Given the description of an element on the screen output the (x, y) to click on. 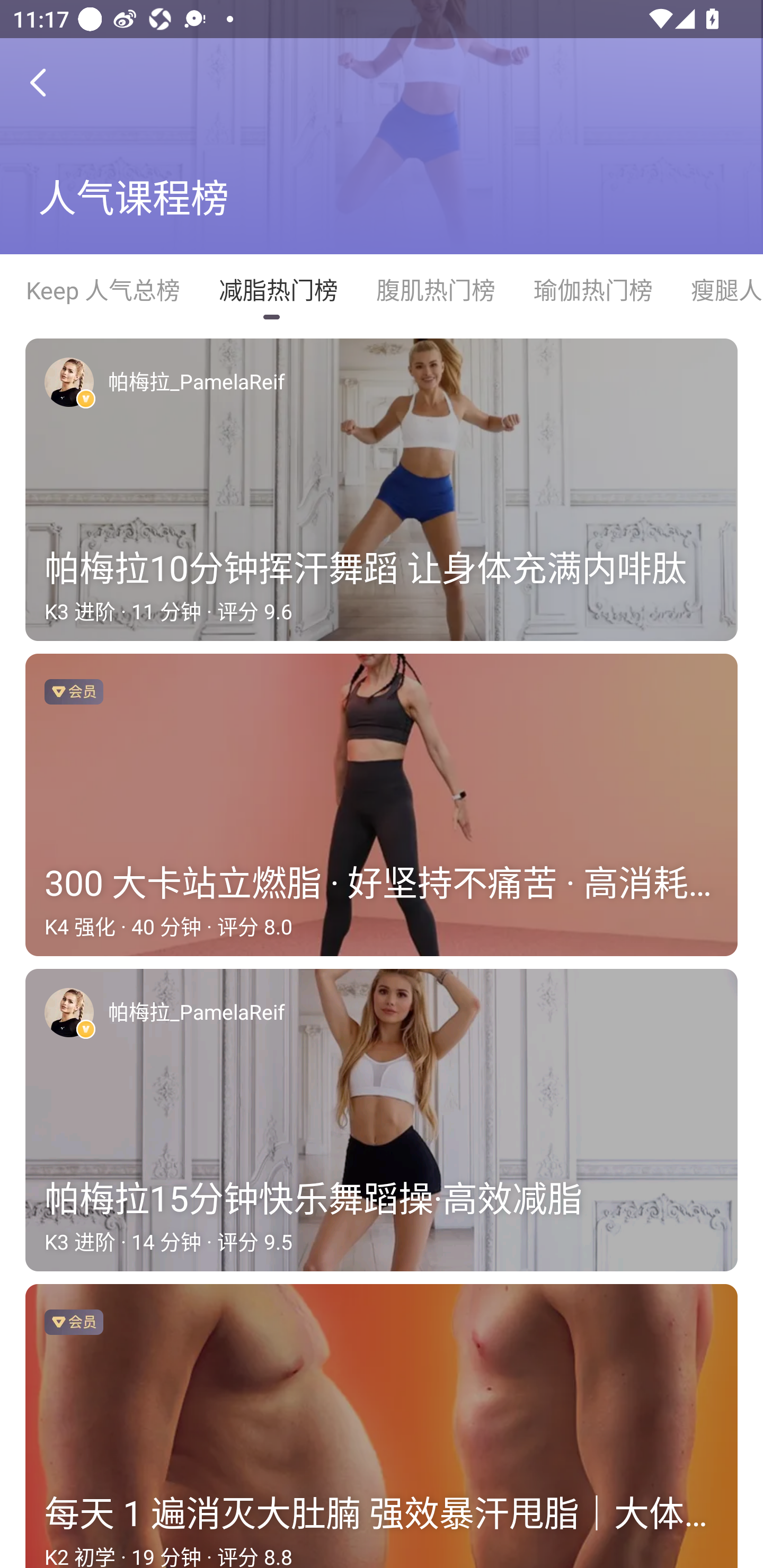
Left Button In Title Bar (50, 82)
Keep 人气总榜 (102, 290)
减脂热门榜 (277, 290)
腹肌热门榜 (435, 290)
瑜伽热门榜 (592, 290)
瘦腿人气榜 (717, 290)
每天 1 遍消灭大肚腩 强效暴汗甩脂｜大体重专属 K2 初学 · 19 分钟 · 评分 8.8 (381, 1426)
